Given the description of an element on the screen output the (x, y) to click on. 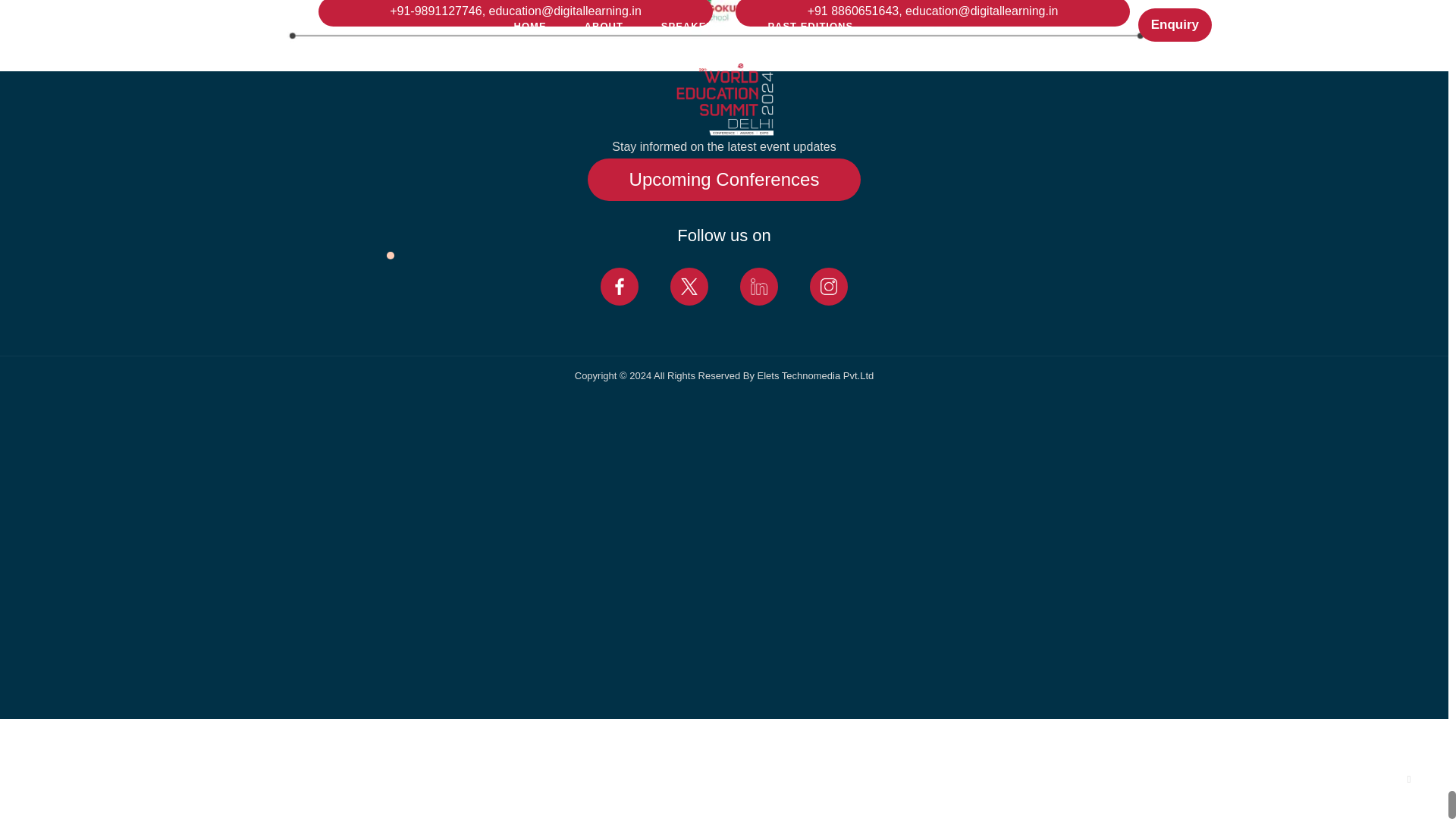
Upcoming Conferences (724, 179)
